Given the description of an element on the screen output the (x, y) to click on. 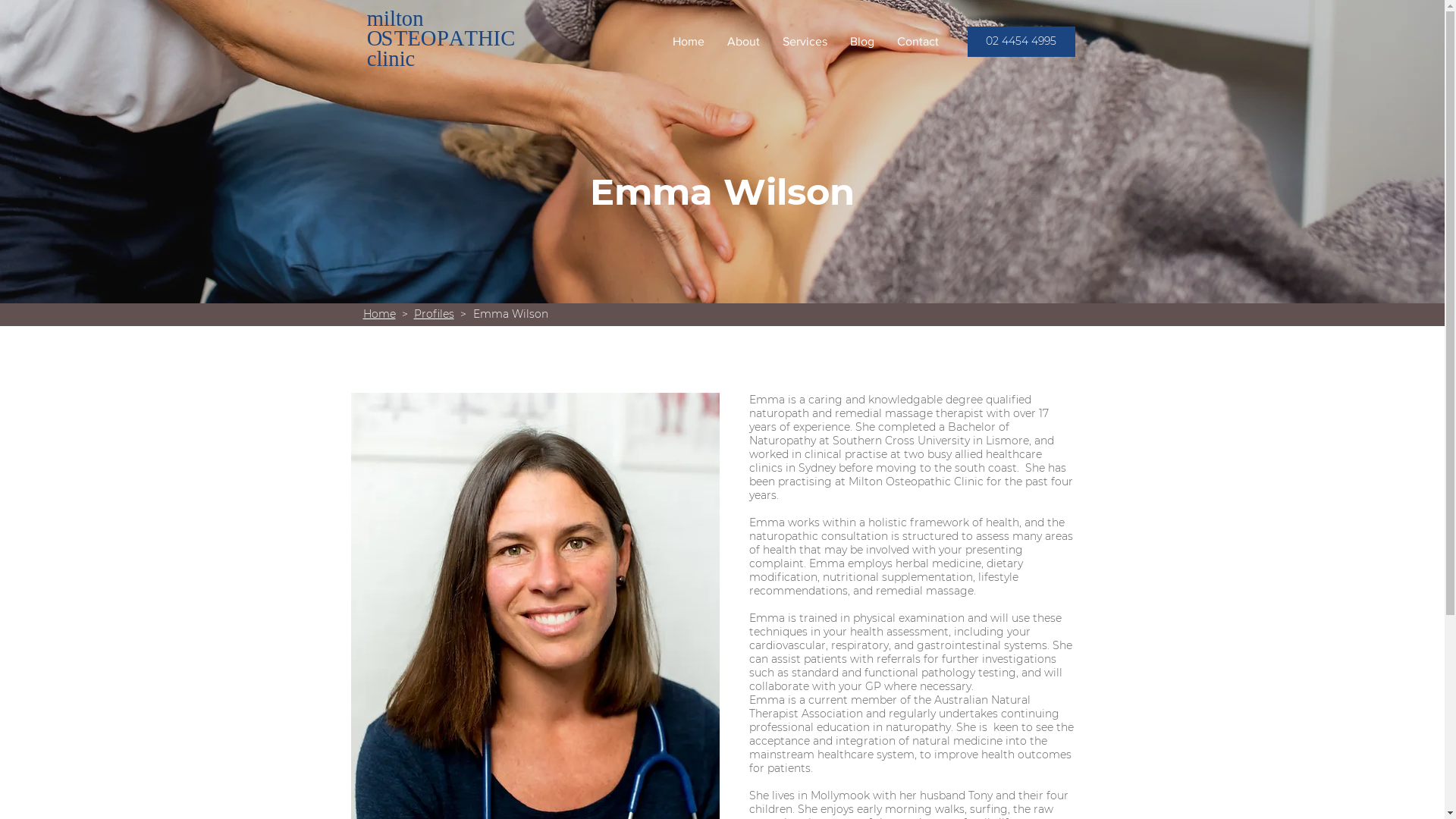
Home Element type: text (378, 313)
Blog Element type: text (861, 41)
02 4454 4995 Element type: text (1021, 41)
Profiles Element type: text (434, 313)
About Element type: text (743, 41)
Contact Element type: text (917, 41)
miltonOSTEOPATHICclinic Element type: text (441, 40)
Home Element type: text (688, 41)
Services Element type: text (803, 41)
